Given the description of an element on the screen output the (x, y) to click on. 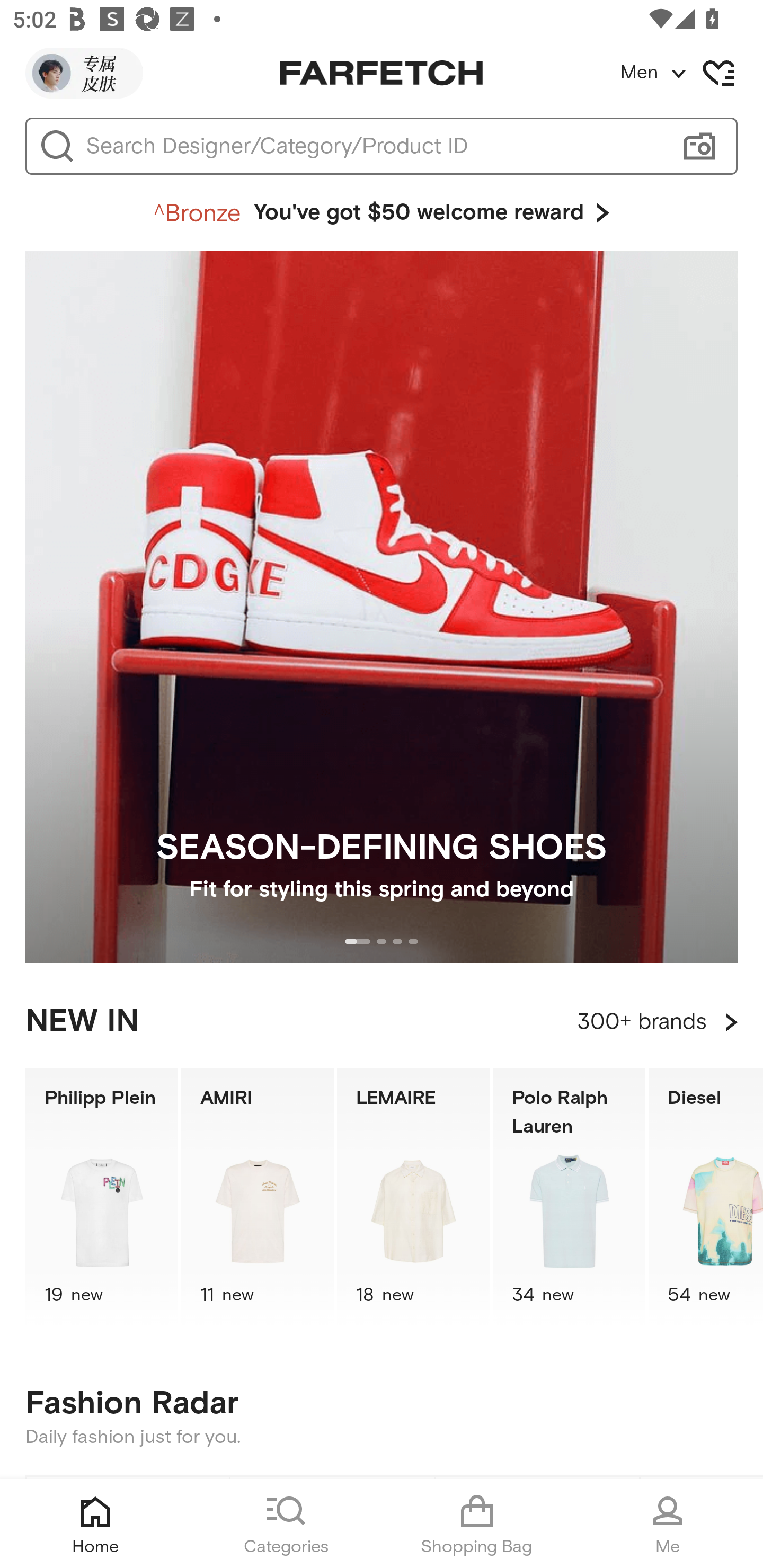
Men (691, 72)
Search Designer/Category/Product ID (373, 146)
You've got $50 welcome reward (381, 213)
NEW IN 300+ brands (381, 1021)
Philipp Plein 19  new (101, 1196)
AMIRI 11  new (257, 1196)
LEMAIRE 18  new (413, 1196)
Polo Ralph Lauren 34  new (568, 1196)
Diesel 54  new (705, 1196)
Categories (285, 1523)
Shopping Bag (476, 1523)
Me (667, 1523)
